Given the description of an element on the screen output the (x, y) to click on. 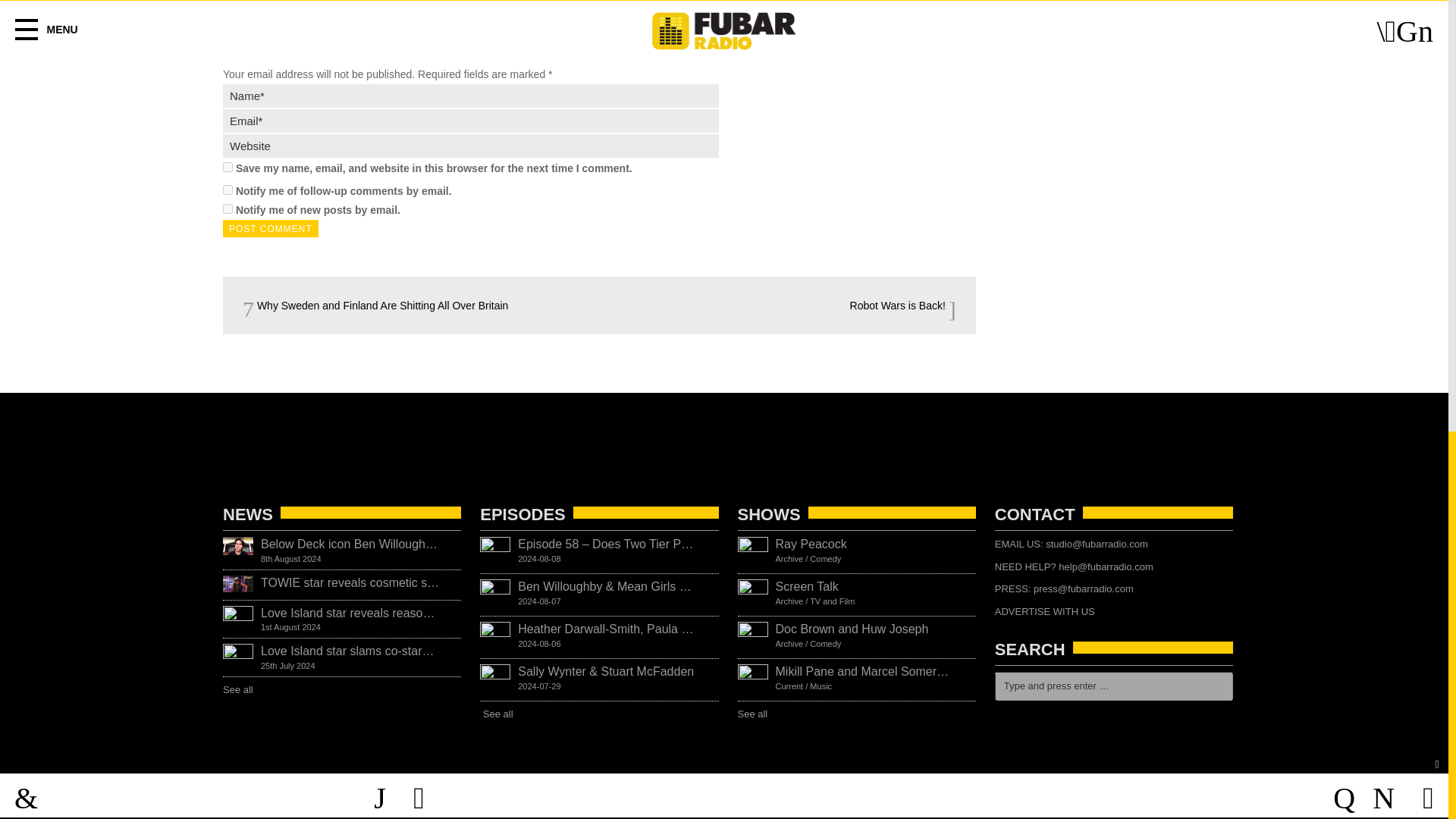
yes (227, 166)
See all (500, 713)
See all (756, 713)
ADVERTISE WITH US (1044, 611)
Robot Wars is Back! (903, 305)
See all (242, 689)
Post Comment (270, 228)
subscribe (227, 189)
